Given the description of an element on the screen output the (x, y) to click on. 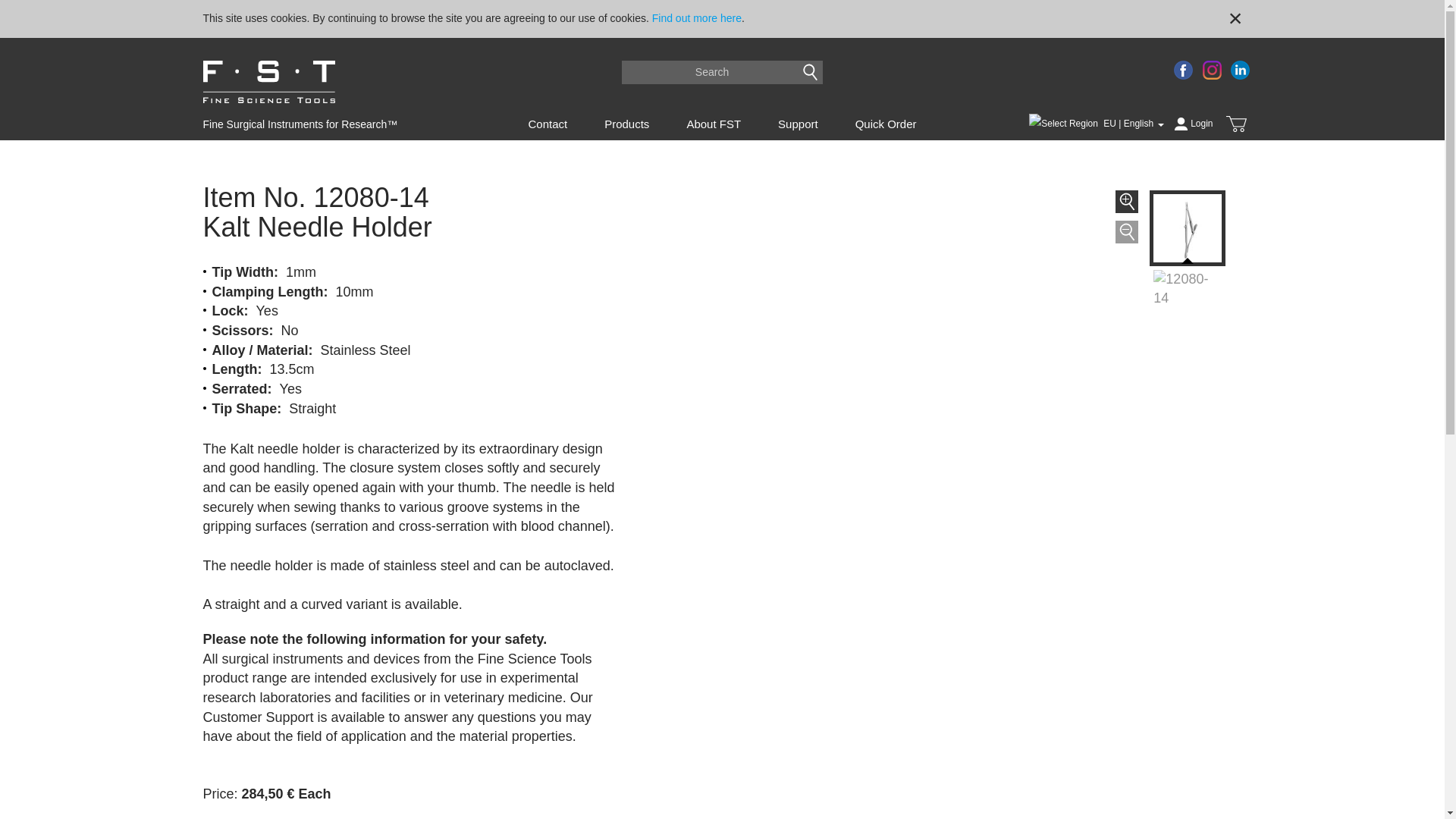
Products (626, 123)
Find out more here (696, 18)
Contact (547, 123)
